Given the description of an element on the screen output the (x, y) to click on. 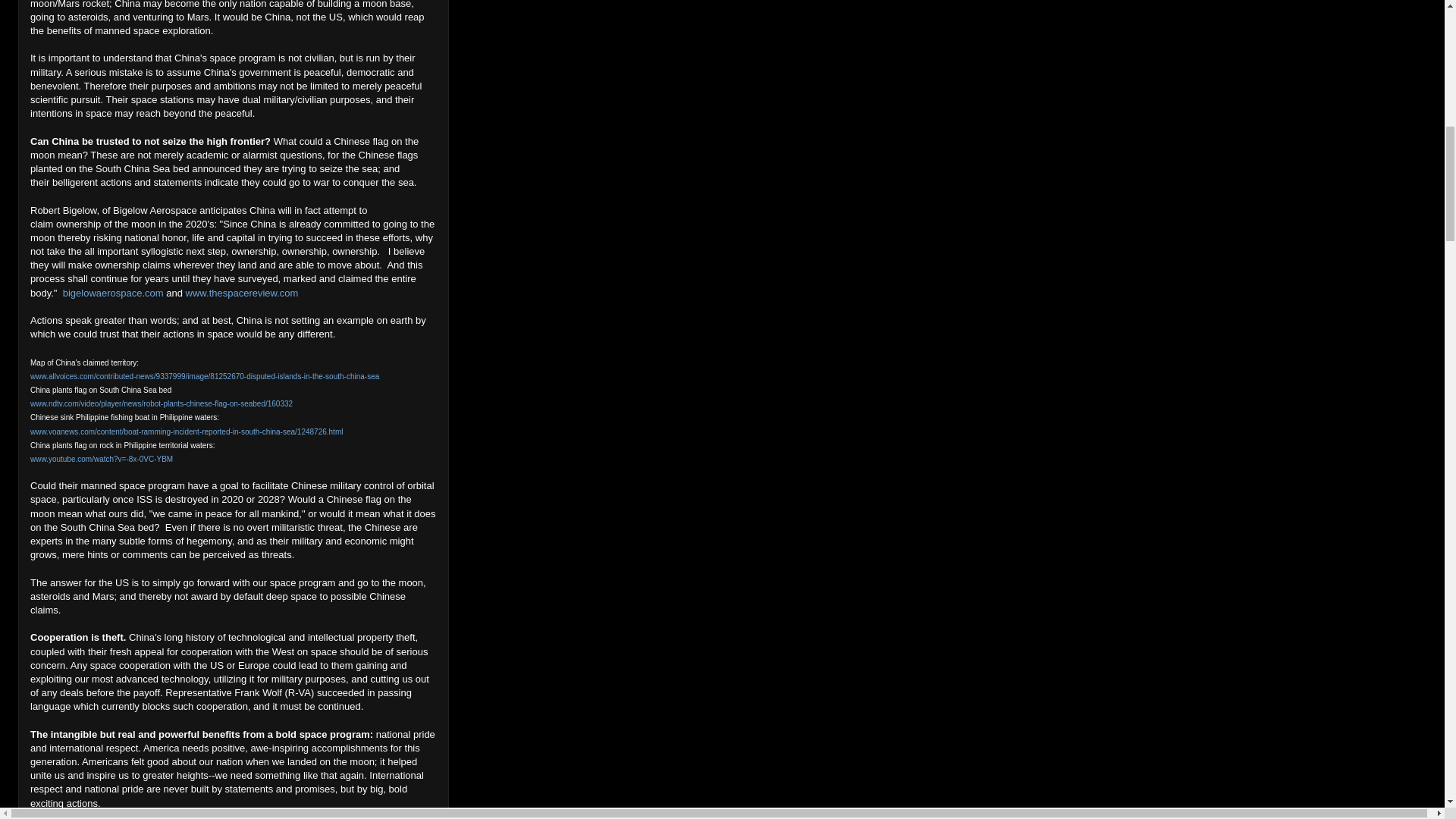
bigelowaerospace.com (112, 292)
www.thespacereview.com (242, 292)
